Given the description of an element on the screen output the (x, y) to click on. 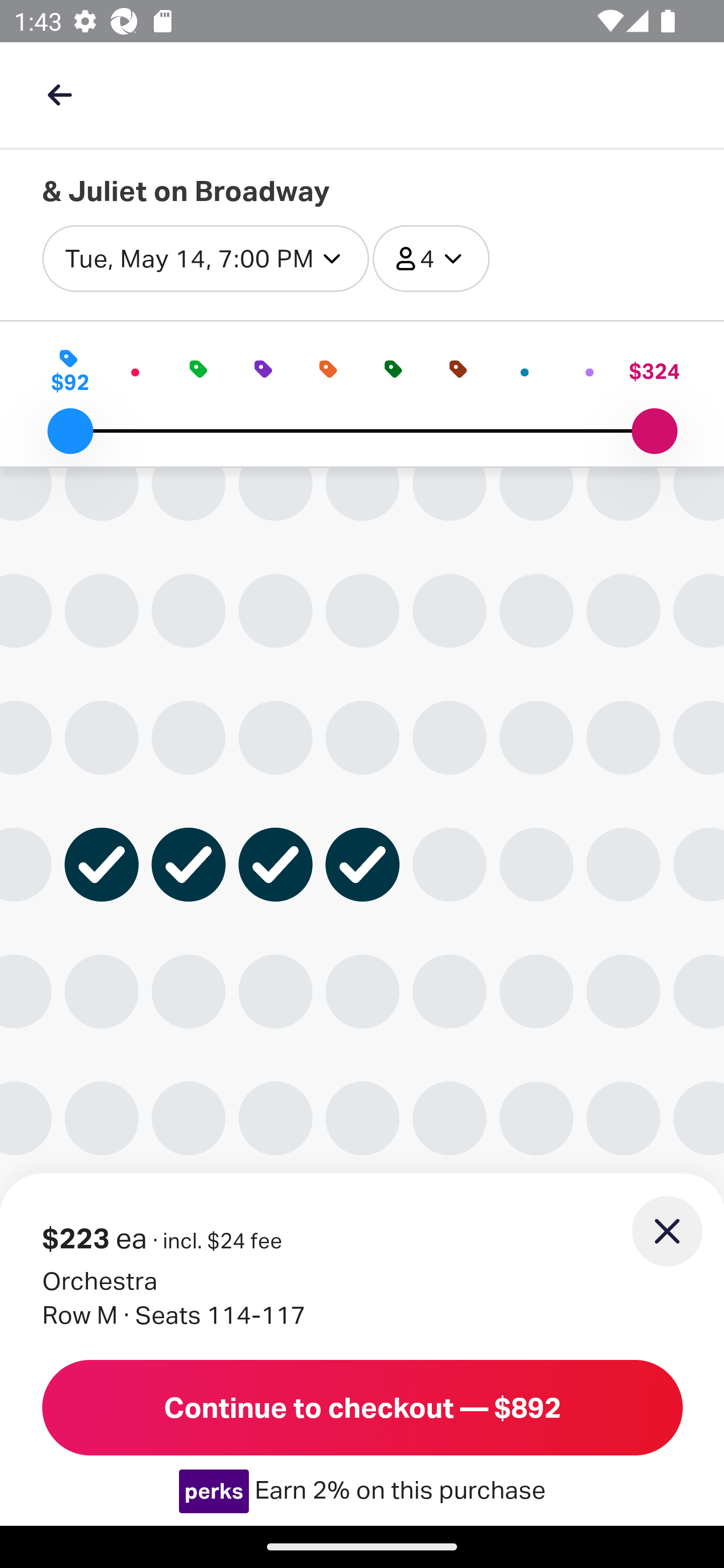
back button (59, 94)
Tue, May 14, 7:00 PM (205, 259)
4 (430, 259)
$92 (70, 370)
• (134, 370)
• (525, 370)
• (590, 370)
$324 (653, 370)
0.0 (69, 431)
100.0 (654, 431)
